Given the description of an element on the screen output the (x, y) to click on. 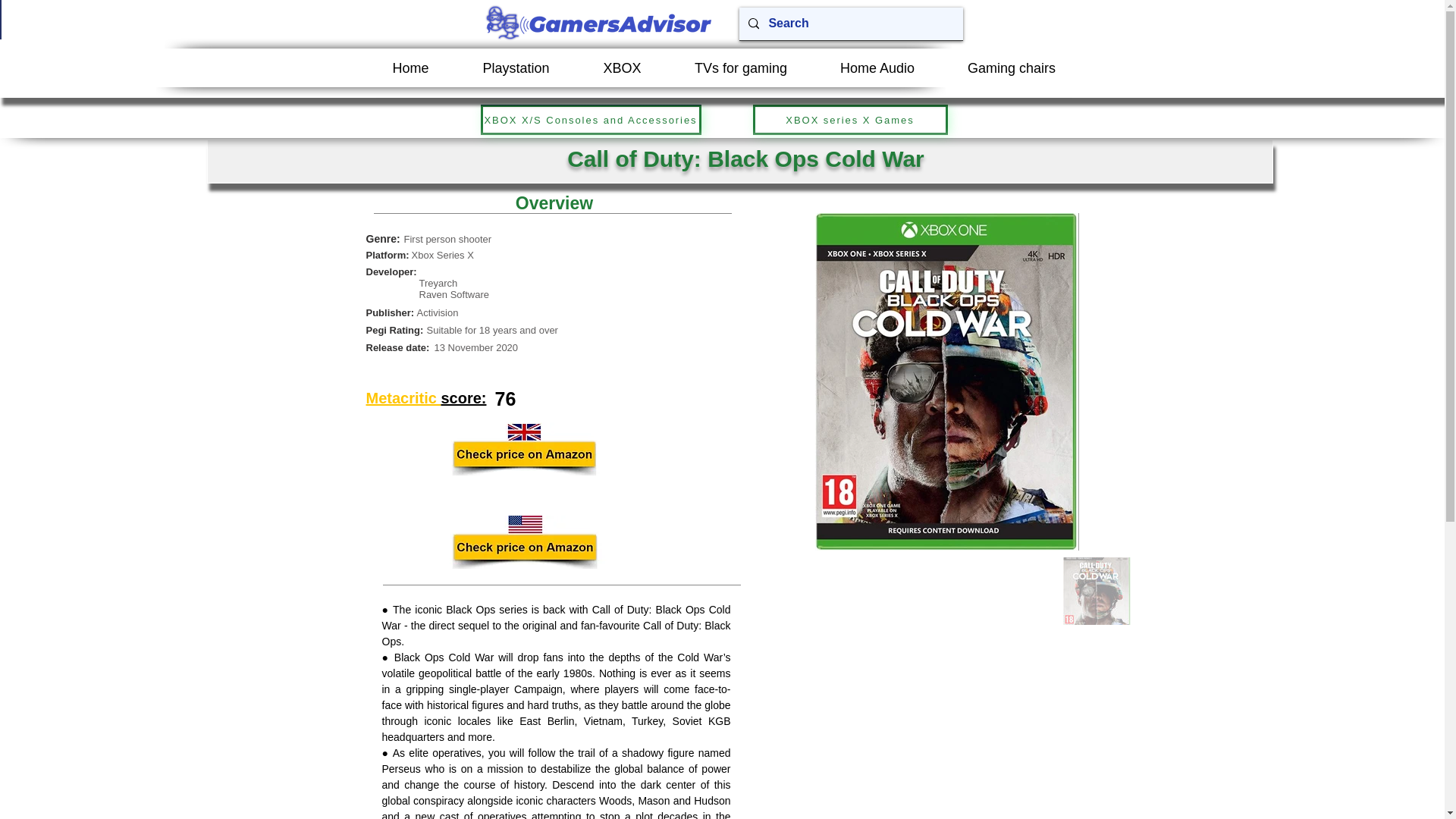
Home Audio (876, 67)
Gaming chairs (1008, 67)
Home (410, 67)
Home Audio (873, 67)
XBOX (621, 67)
Gaming chairs (1010, 67)
Home (412, 67)
TVs for gaming (739, 67)
TVs for gaming (740, 67)
Playstation (517, 67)
